Given the description of an element on the screen output the (x, y) to click on. 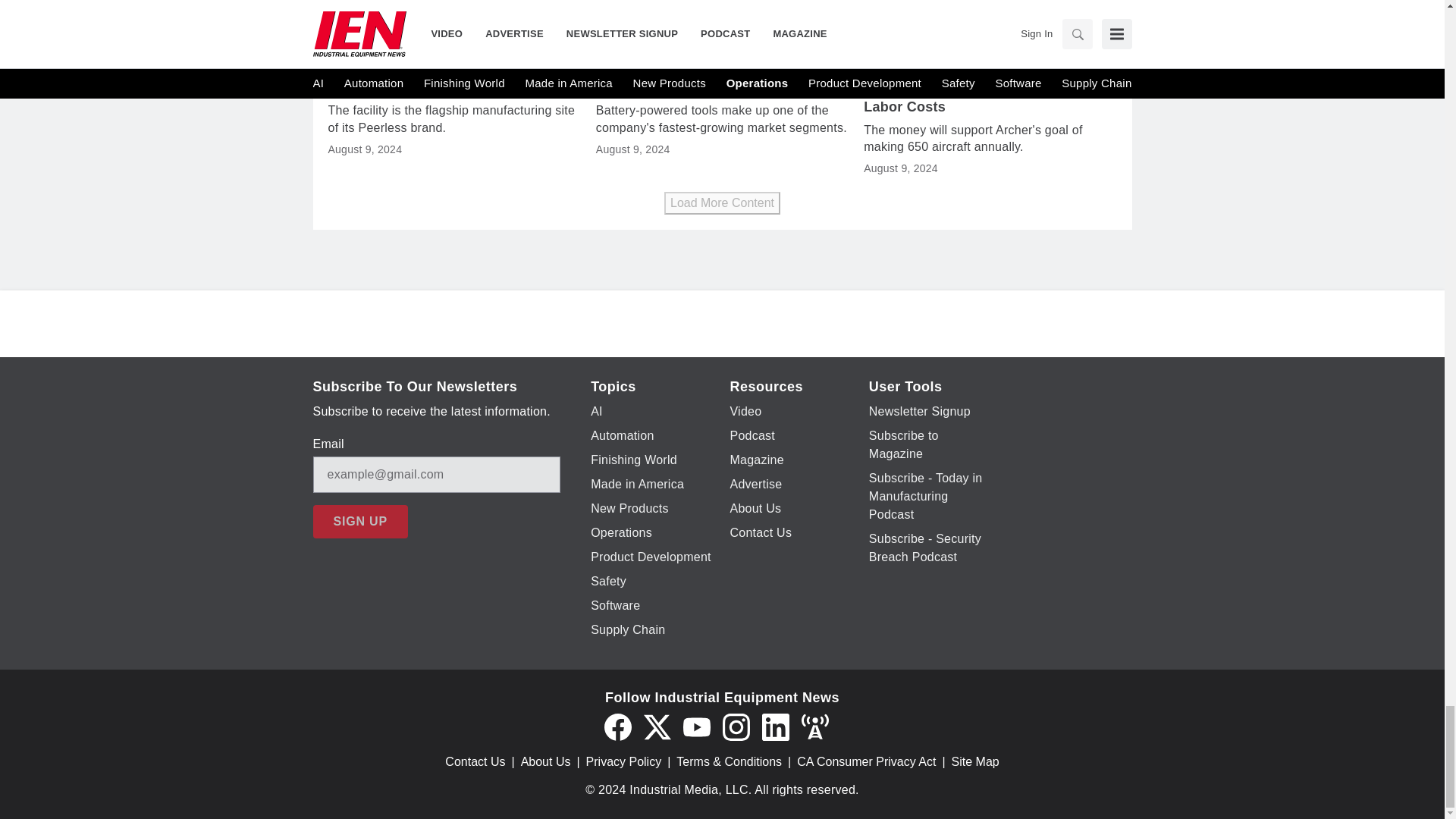
Facebook icon (617, 727)
YouTube icon (696, 727)
Instagram icon (735, 727)
LinkedIn icon (775, 727)
Twitter X icon (656, 727)
